Given the description of an element on the screen output the (x, y) to click on. 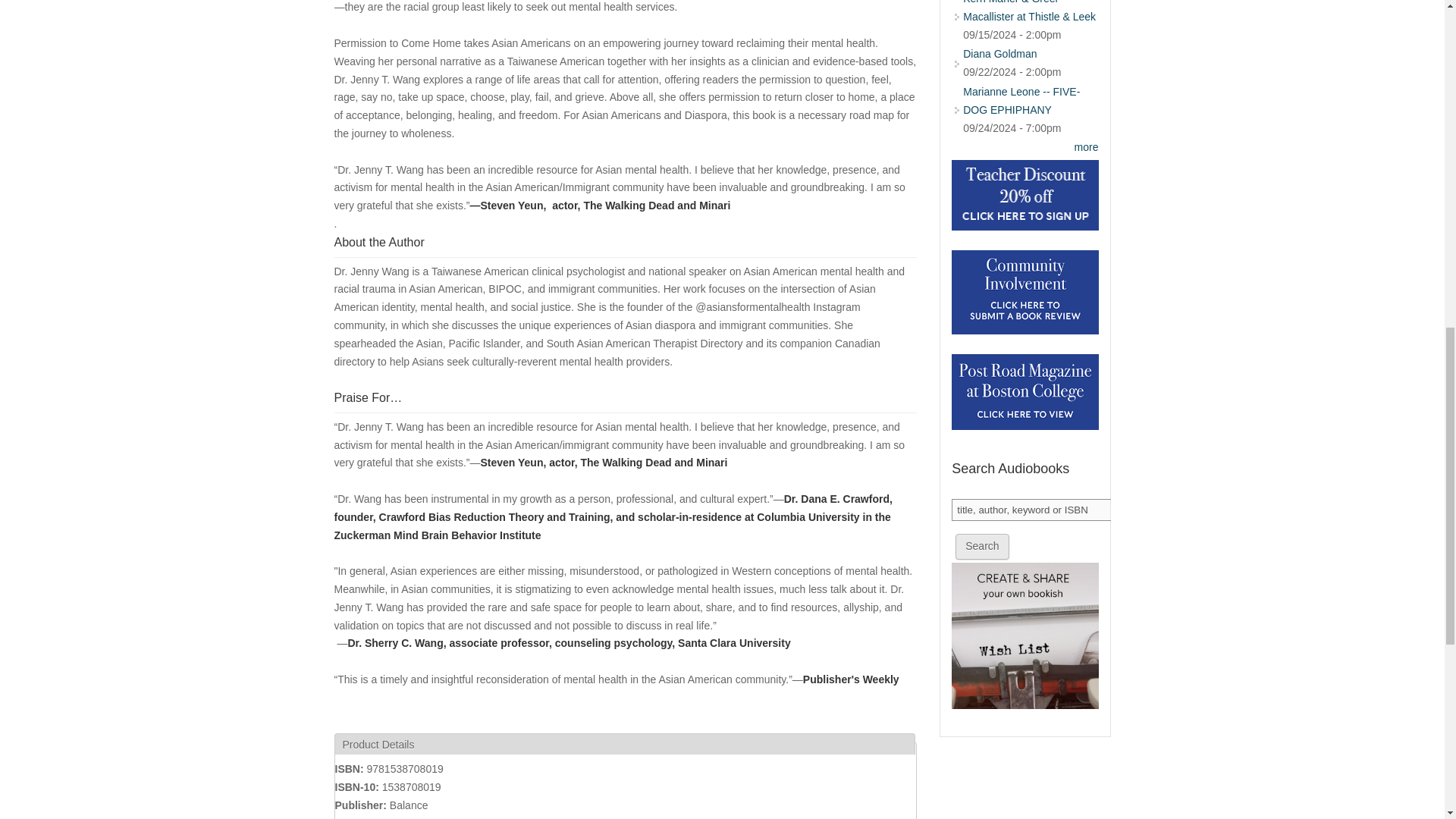
Search (982, 546)
Enter title, author, keyword or ISBN. (1033, 509)
title, author, keyword or ISBN (1033, 509)
